Given the description of an element on the screen output the (x, y) to click on. 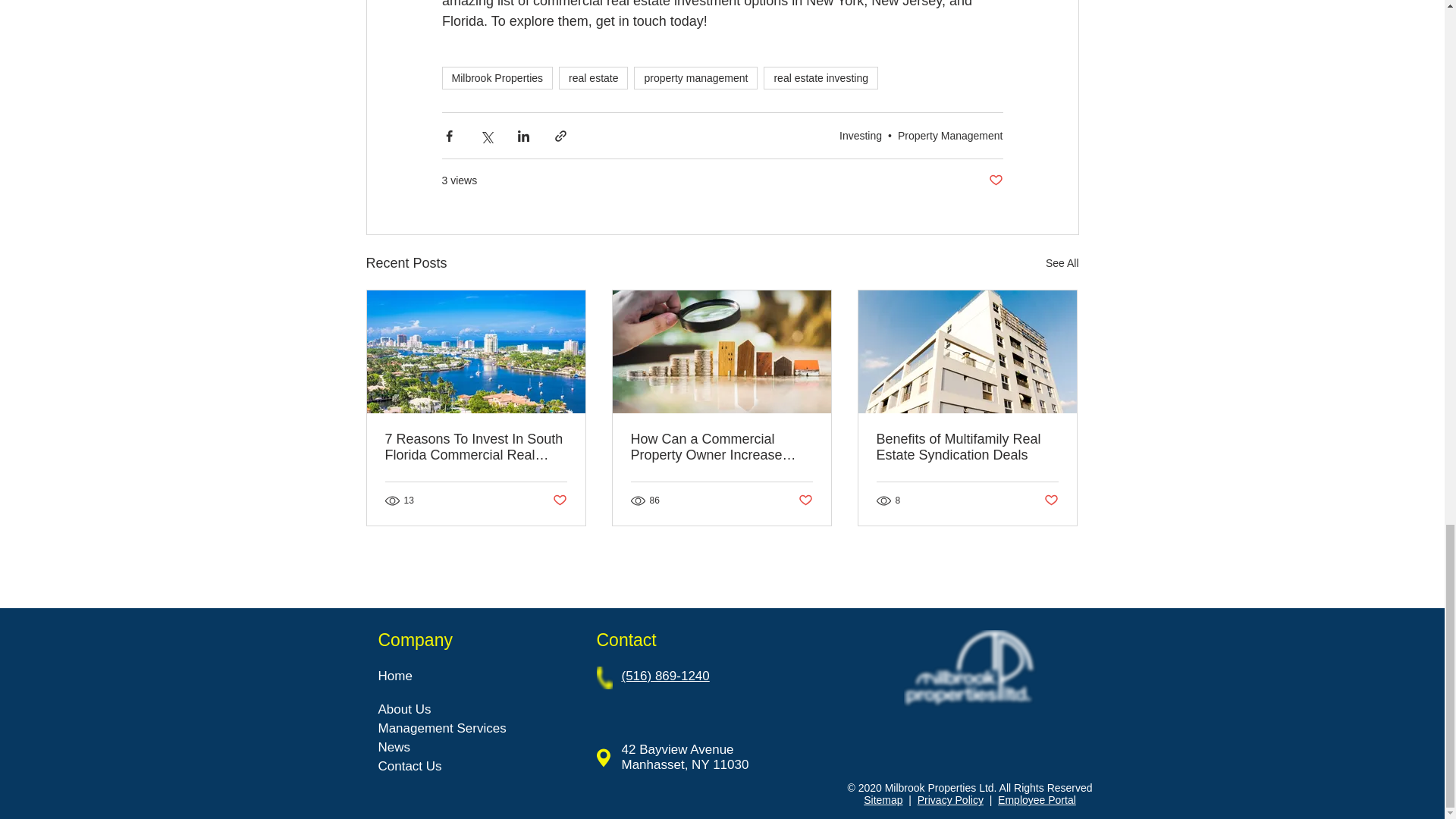
Milbrook Properties (497, 77)
real estate (593, 77)
real estate investing (819, 77)
property management (695, 77)
